Given the description of an element on the screen output the (x, y) to click on. 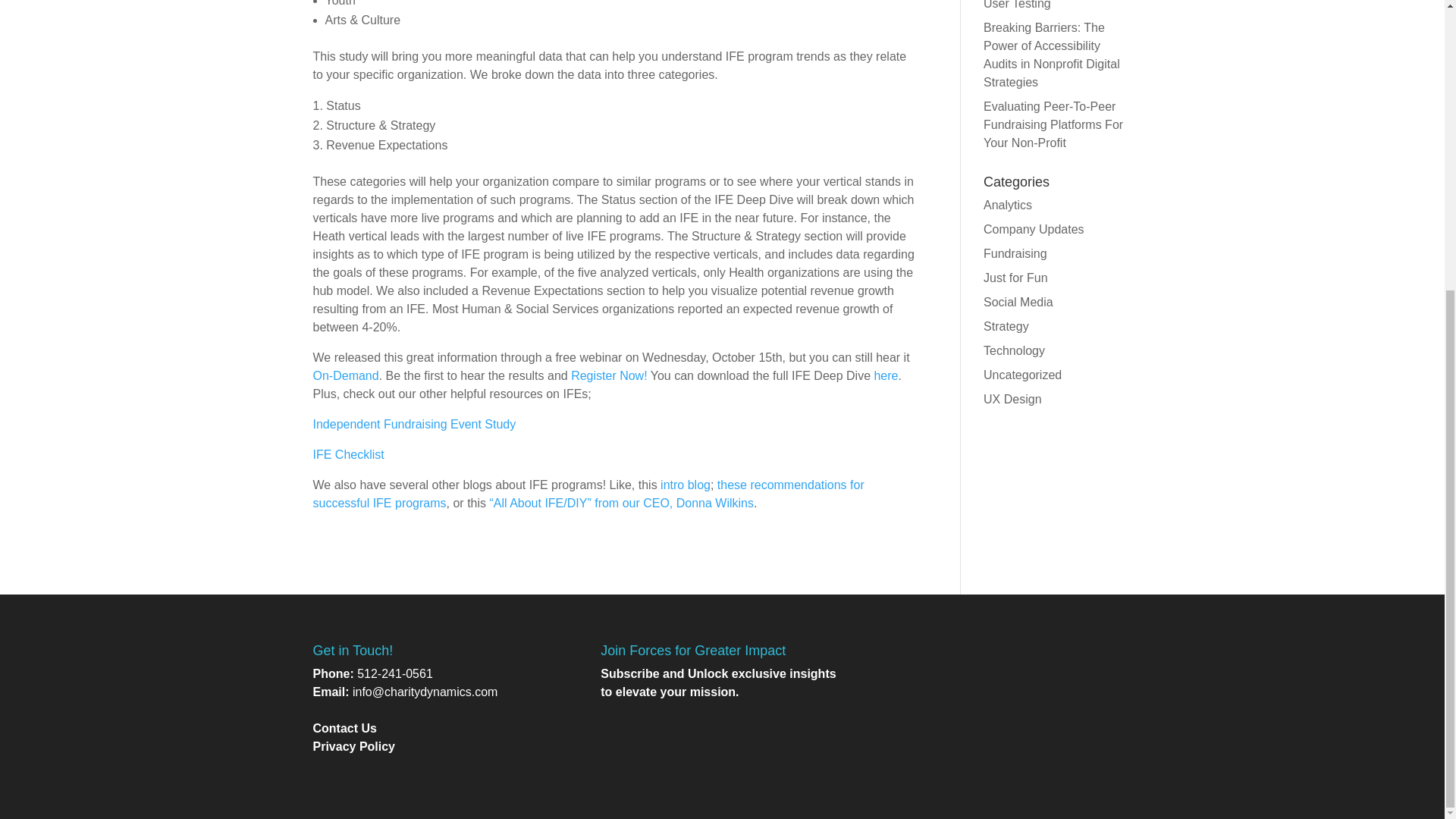
IFE Checklist (348, 454)
here (885, 375)
The Indispensable Art of User Testing (1049, 4)
these recommendations for successful IFE programs (588, 493)
Independent Fundraising Event Study (414, 423)
UX Design (1012, 399)
Strategy (1006, 326)
Social Media (1018, 301)
Register Now! (608, 375)
Just for Fun (1015, 277)
